Given the description of an element on the screen output the (x, y) to click on. 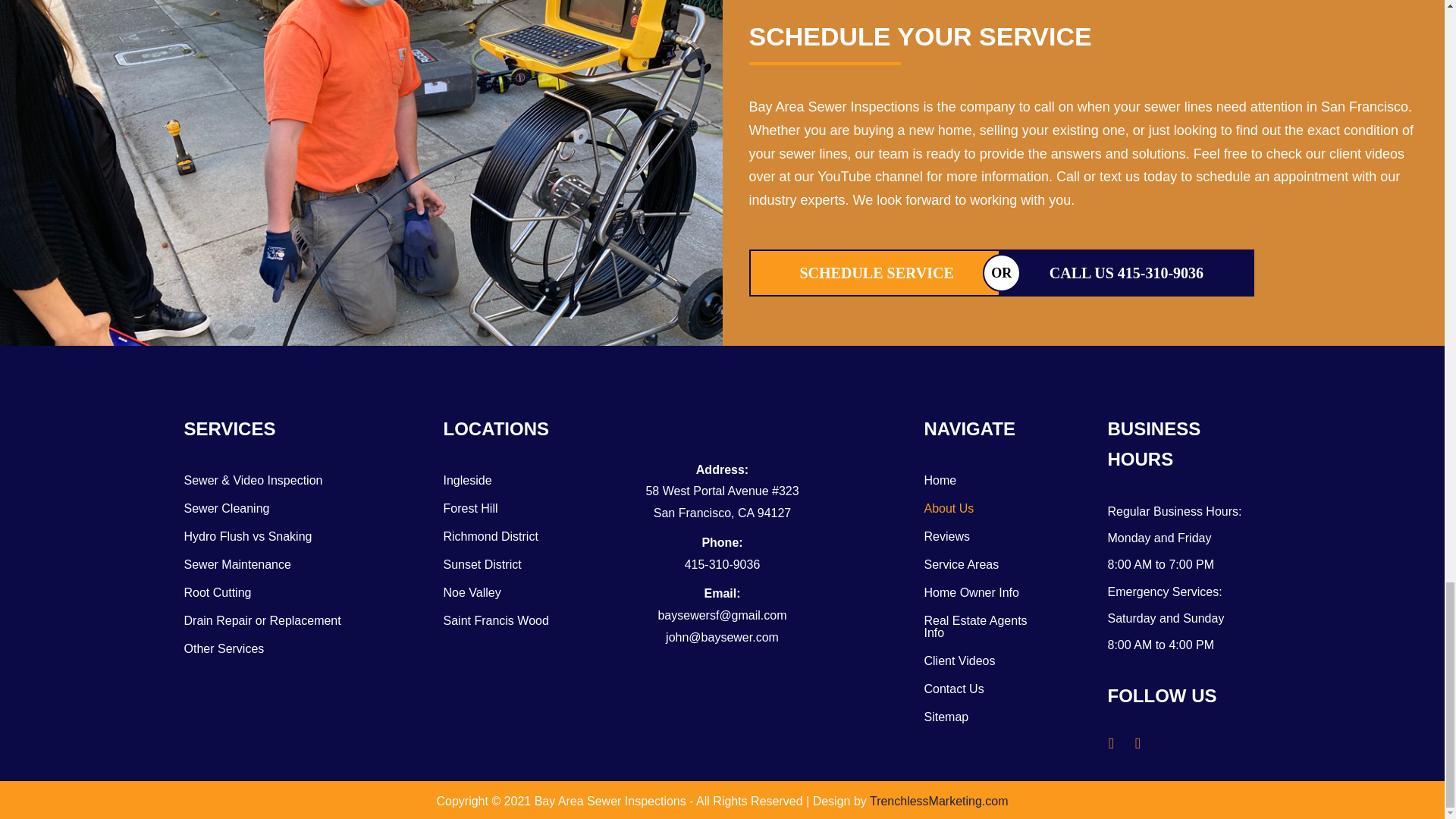
-Logo (721, 409)
SCHEDULE SERVICE (876, 272)
Hydro Flush vs Snaking (275, 536)
Sewer Maintenance (275, 564)
CALL US 415-310-9036 (1126, 272)
Sewer Cleaning (275, 508)
